Given the description of an element on the screen output the (x, y) to click on. 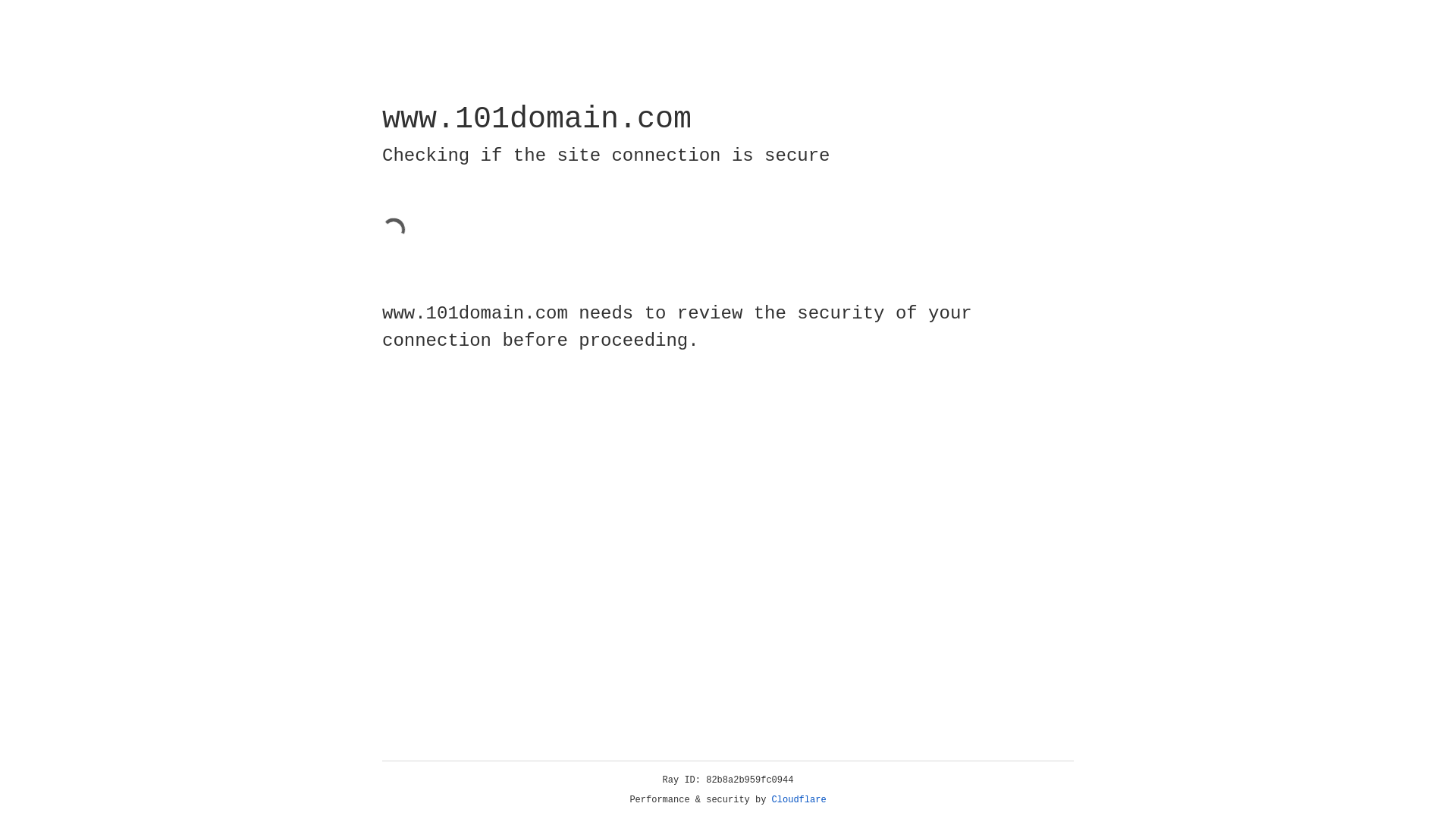
Cloudflare Element type: text (798, 799)
